Given the description of an element on the screen output the (x, y) to click on. 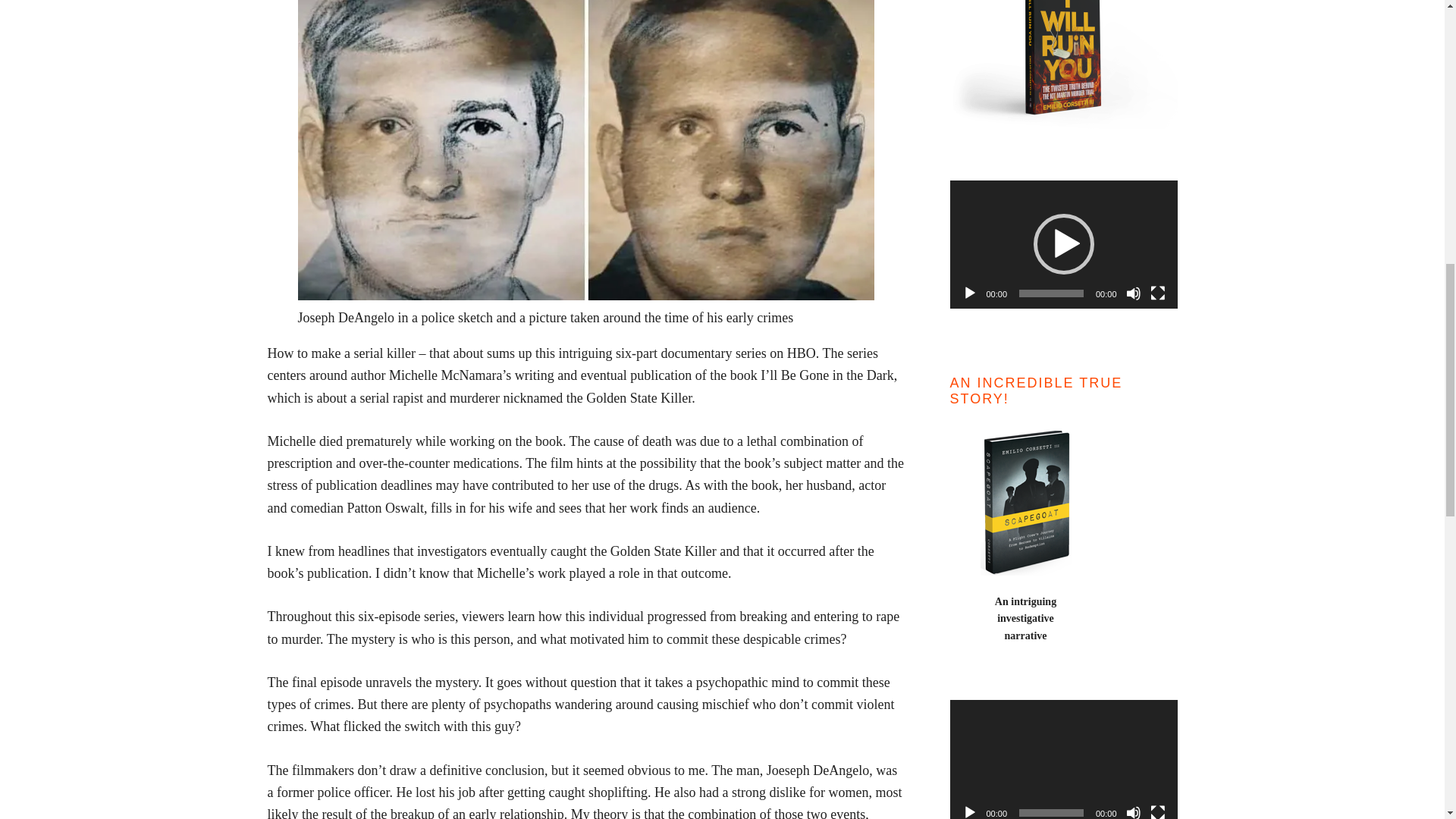
Play (968, 292)
Mute (1132, 292)
Fullscreen (1157, 292)
